Given the description of an element on the screen output the (x, y) to click on. 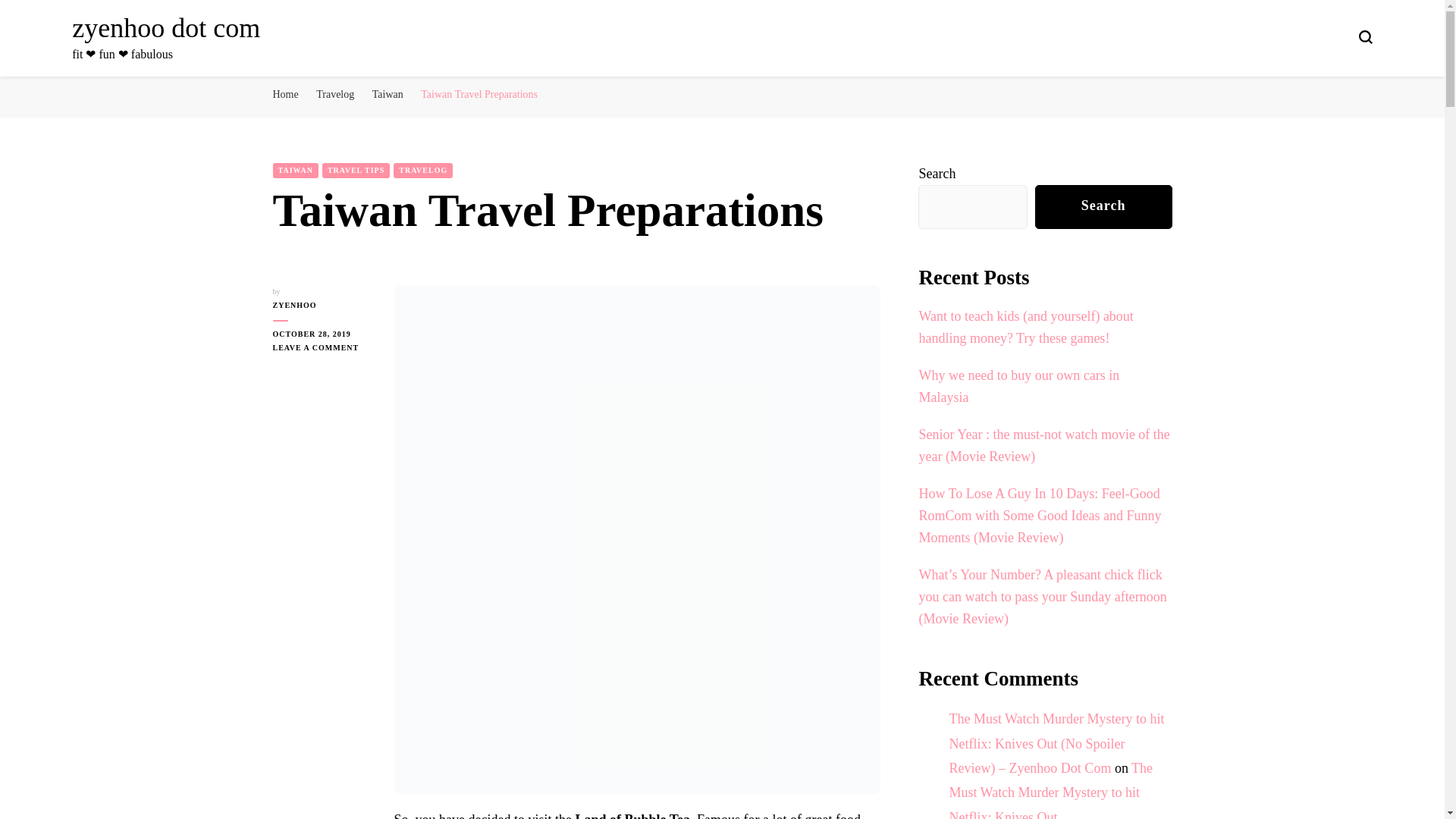
Travelog (334, 93)
Taiwan (387, 93)
ZYENHOO (322, 305)
Search (1103, 206)
Why we need to buy our own cars in Malaysia (322, 347)
zyenhoo dot com (1018, 385)
TRAVEL TIPS (165, 28)
TAIWAN (355, 170)
OCTOBER 28, 2019 (295, 170)
